Given the description of an element on the screen output the (x, y) to click on. 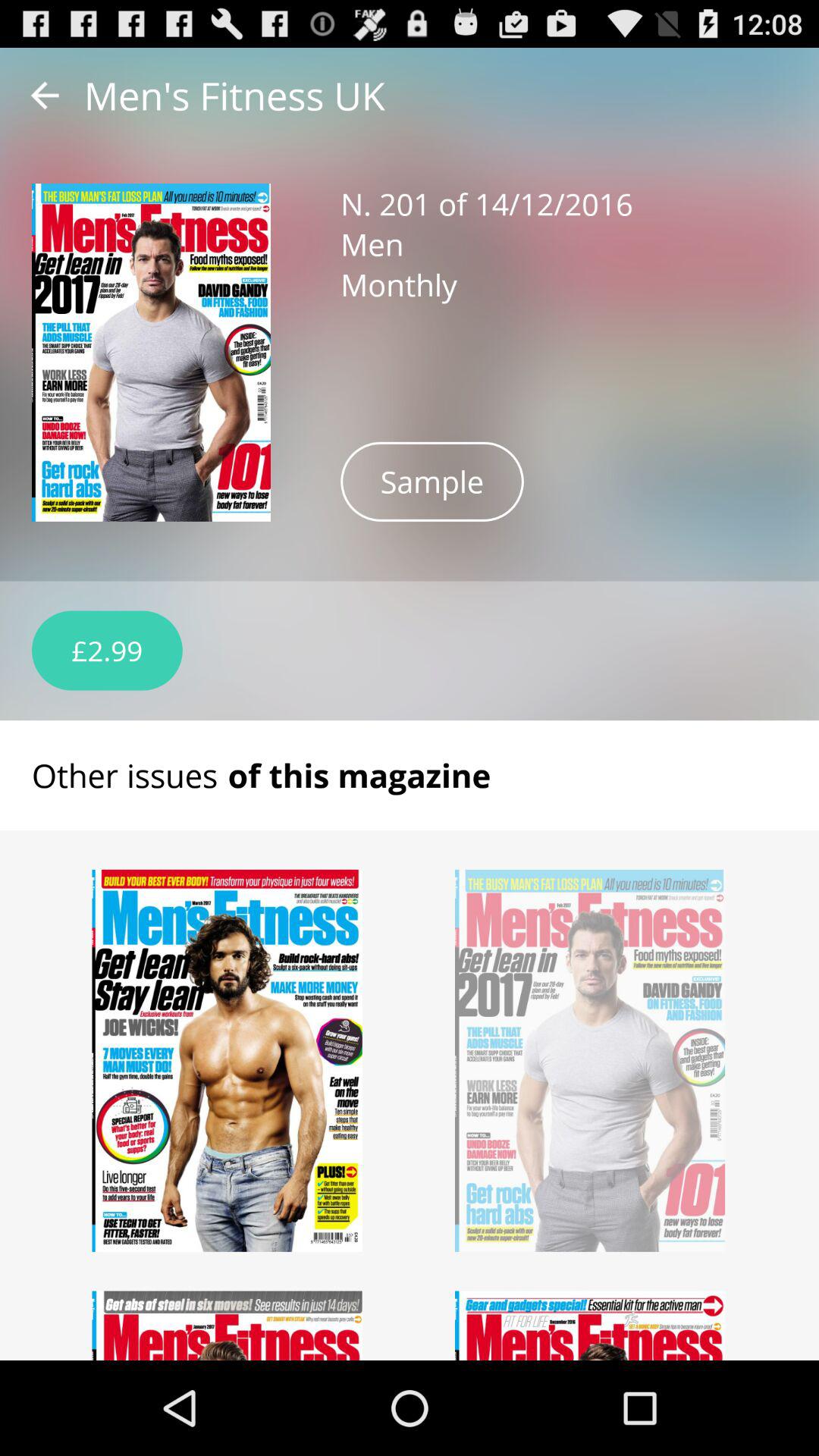
go back (44, 95)
